Given the description of an element on the screen output the (x, y) to click on. 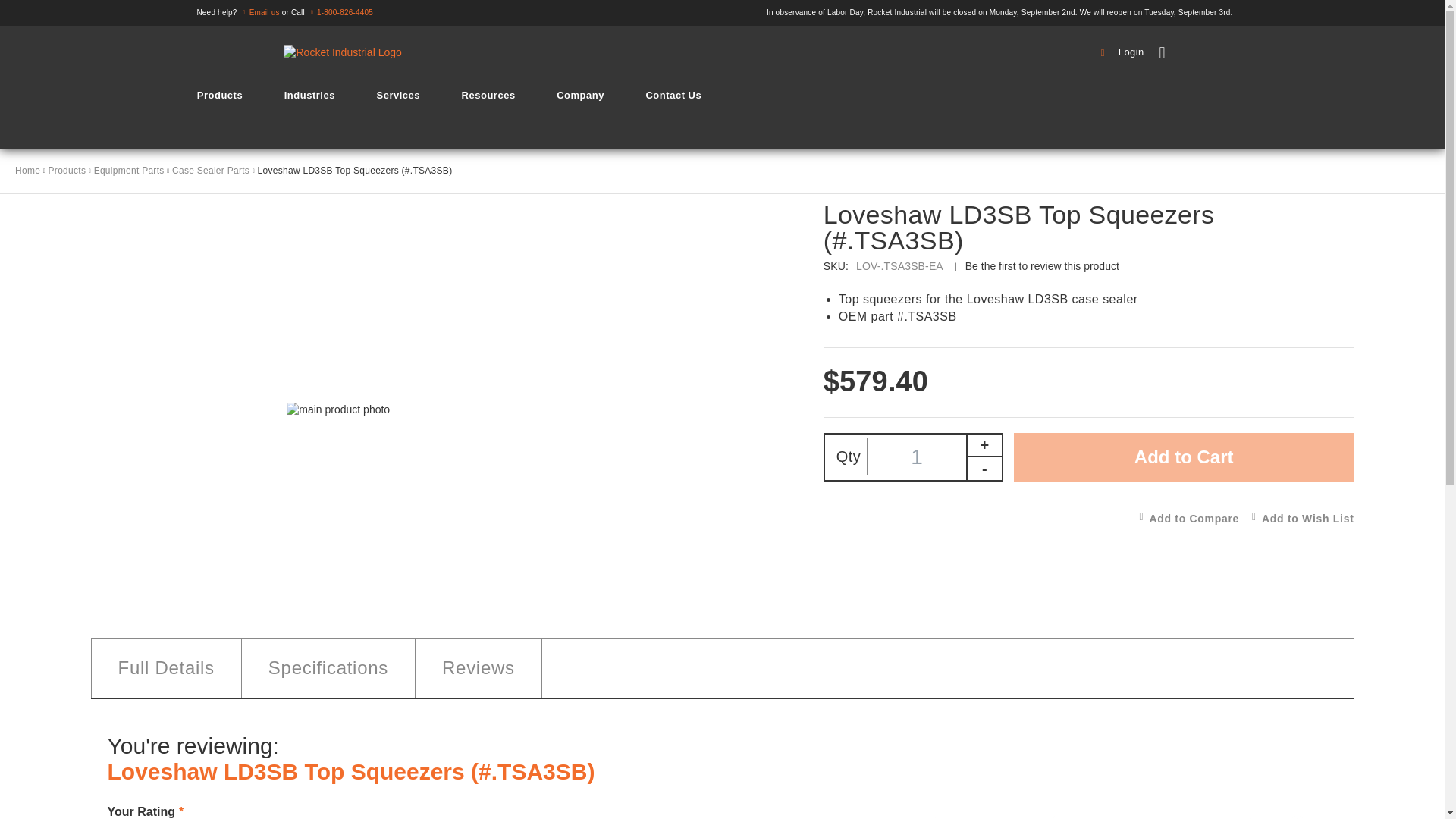
1-800-826-4405 (339, 12)
My Cart (1207, 52)
Products (219, 94)
Login (1124, 52)
Email us (259, 12)
1 (916, 456)
Rocket Industrial Logo (342, 52)
